Given the description of an element on the screen output the (x, y) to click on. 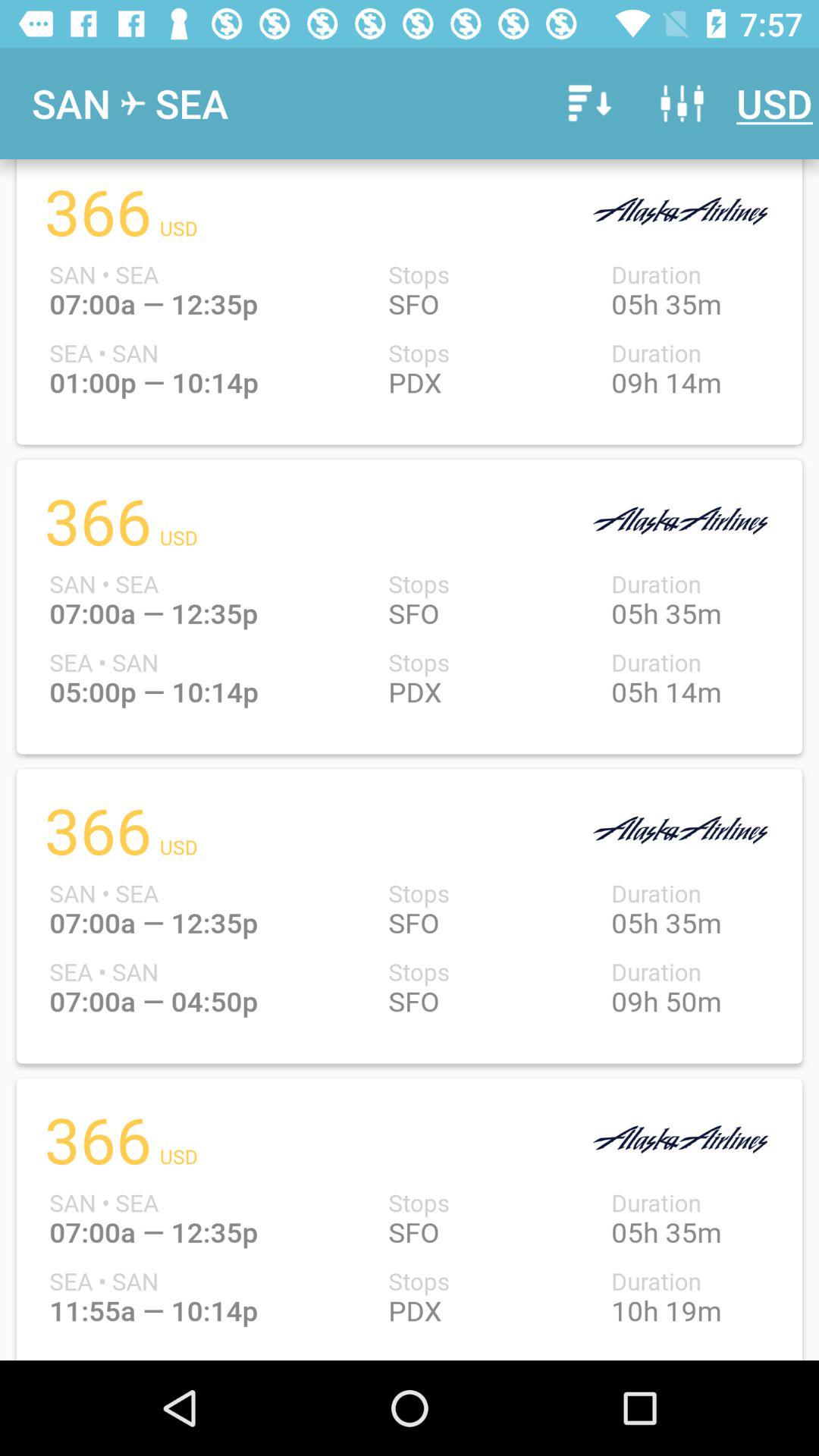
select item next to usd (682, 103)
